Given the description of an element on the screen output the (x, y) to click on. 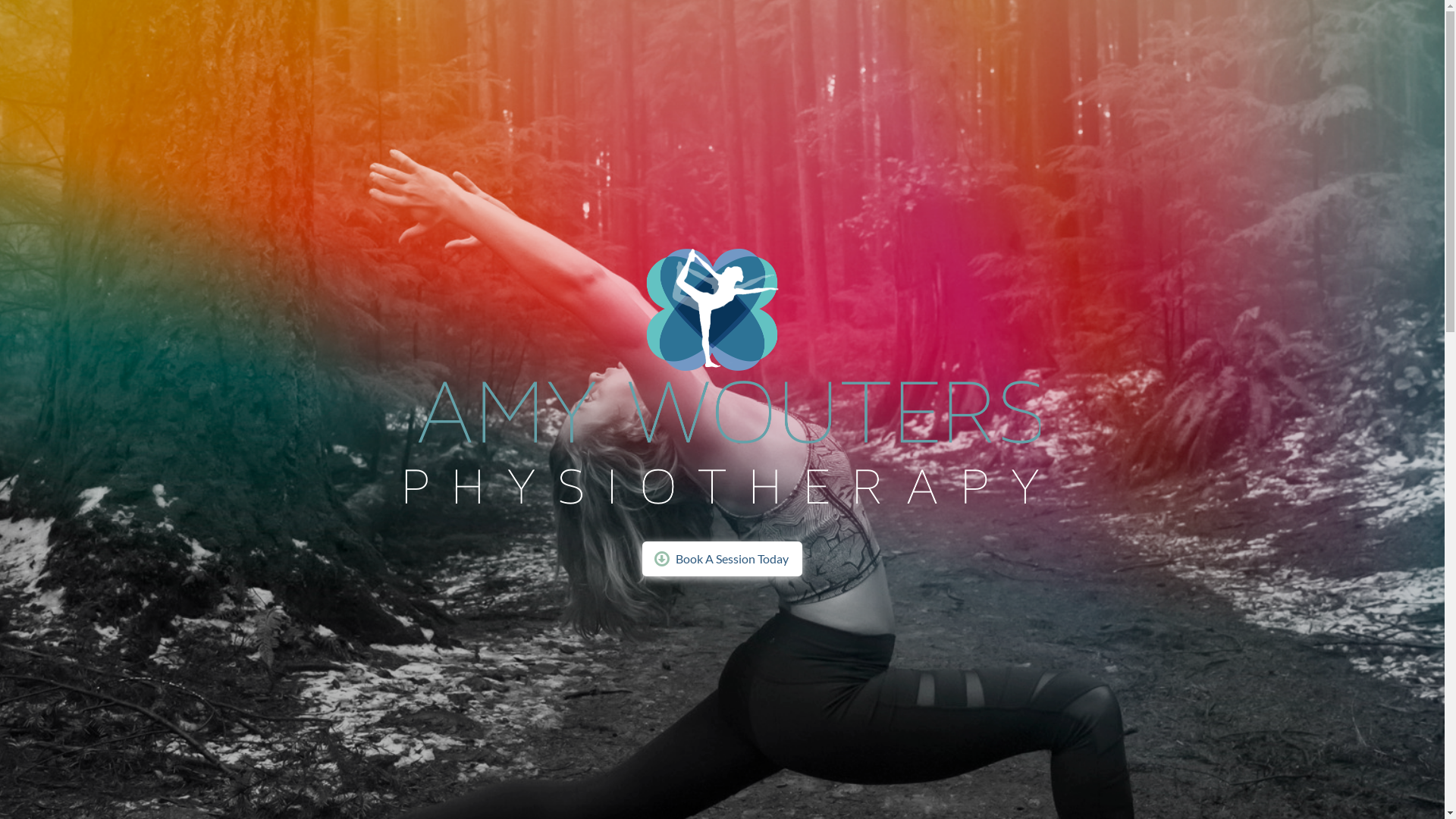
Book A Session Today Element type: text (722, 558)
